Given the description of an element on the screen output the (x, y) to click on. 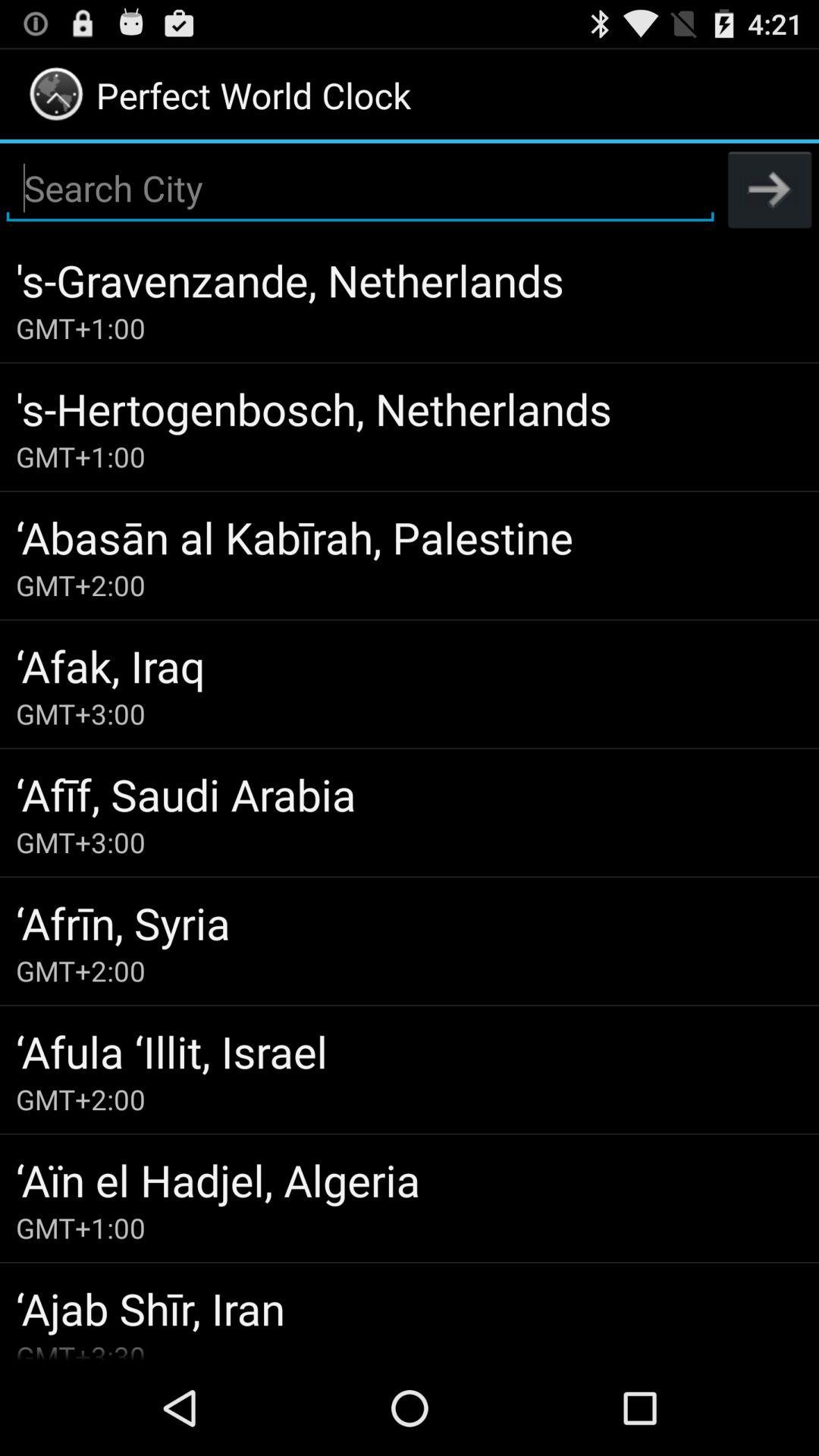
select app below the gmt+1:00 app (409, 1308)
